Given the description of an element on the screen output the (x, y) to click on. 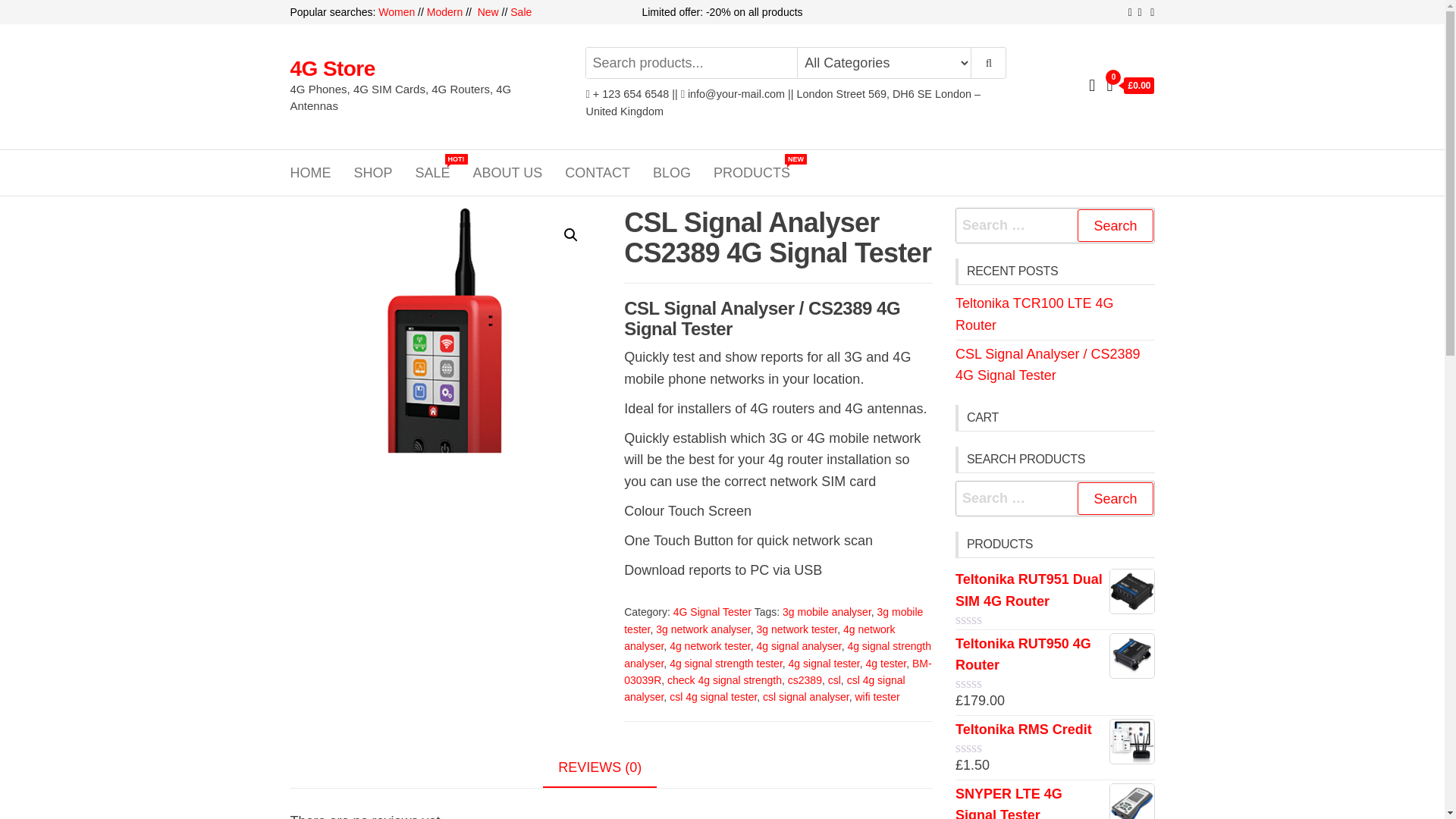
4g signal strength tester (726, 663)
Products (751, 172)
cs2389 (804, 680)
About Us (507, 172)
View your shopping basket (1130, 86)
csl-signal-analyser-cs2389 (443, 357)
4g tester (886, 663)
Contact (597, 172)
4g network analyser (759, 637)
Search (1115, 498)
